Given the description of an element on the screen output the (x, y) to click on. 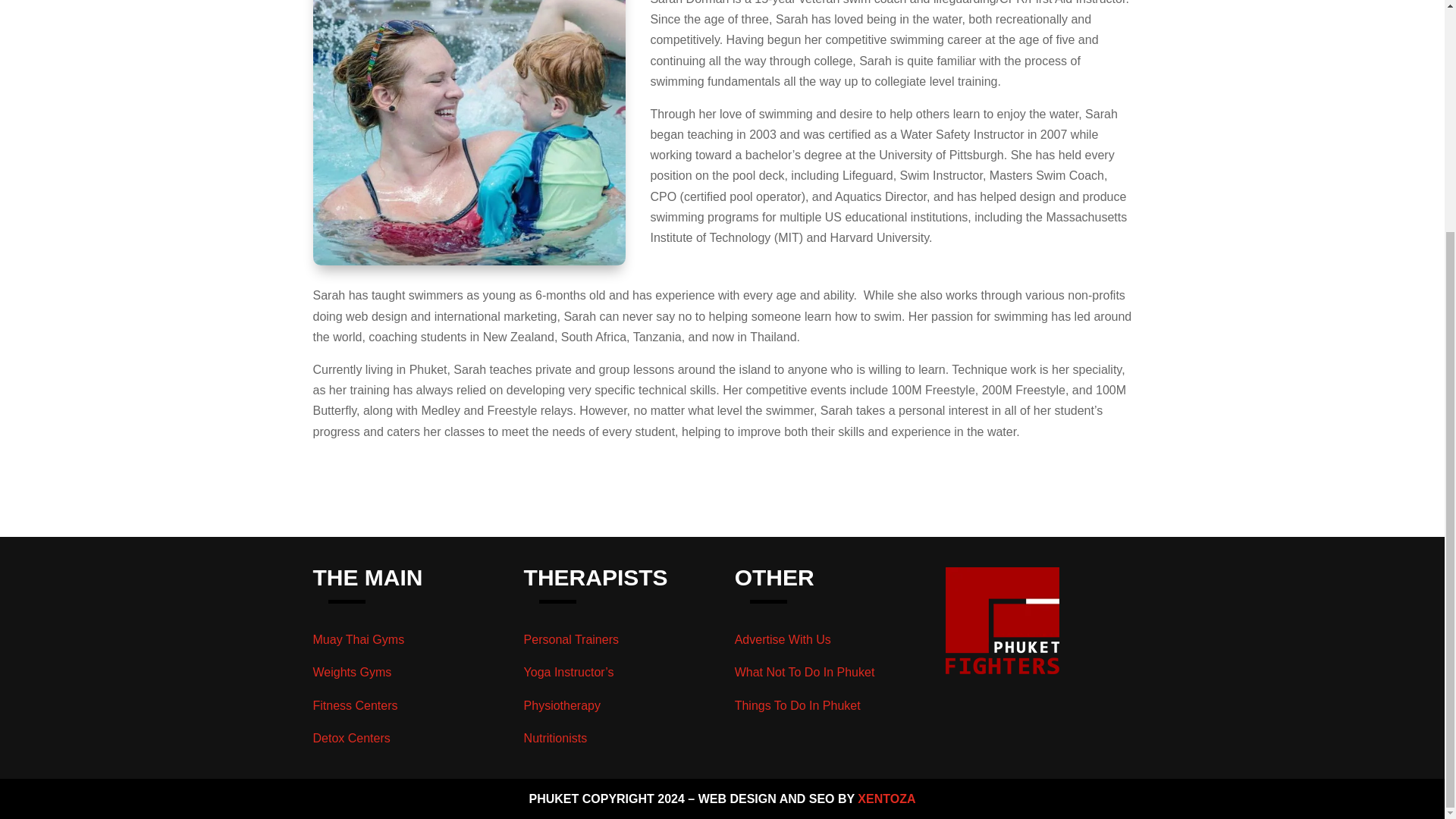
Nutritionists (556, 738)
Fitness Centers (355, 705)
Things To Do In Phuket (797, 705)
Bottom-Banner-Logo (1001, 620)
Sarah Dorman Phuket Swimming Instructor (469, 132)
XENTOZA (886, 798)
Weights Gyms (352, 671)
Advertise With Us (783, 639)
Physiotherapy (561, 705)
Detox Centers (351, 738)
